Given the description of an element on the screen output the (x, y) to click on. 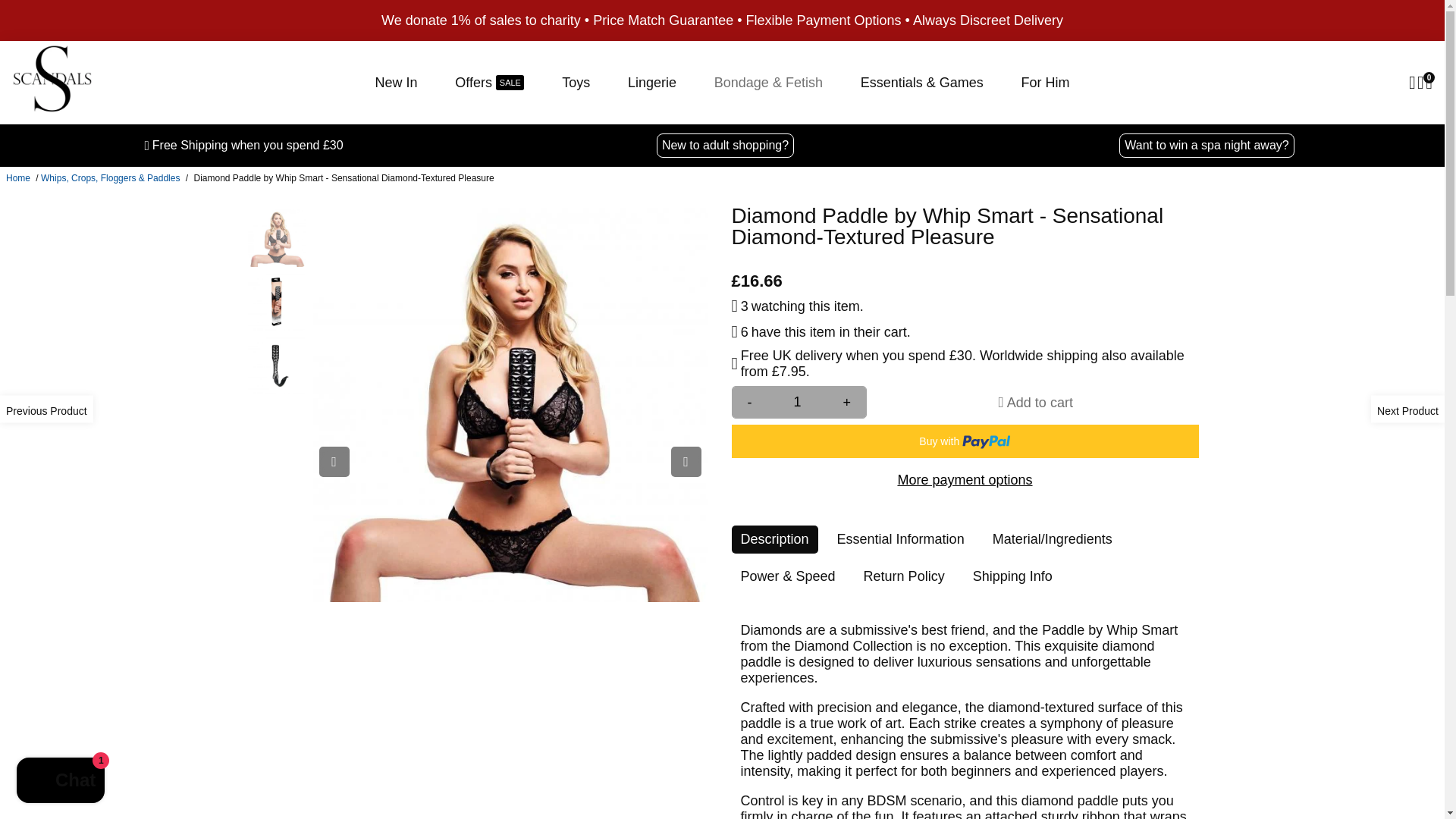
Home (17, 177)
Shopify online store chat (60, 781)
New In (395, 82)
Toys (576, 82)
1 (797, 401)
